Given the description of an element on the screen output the (x, y) to click on. 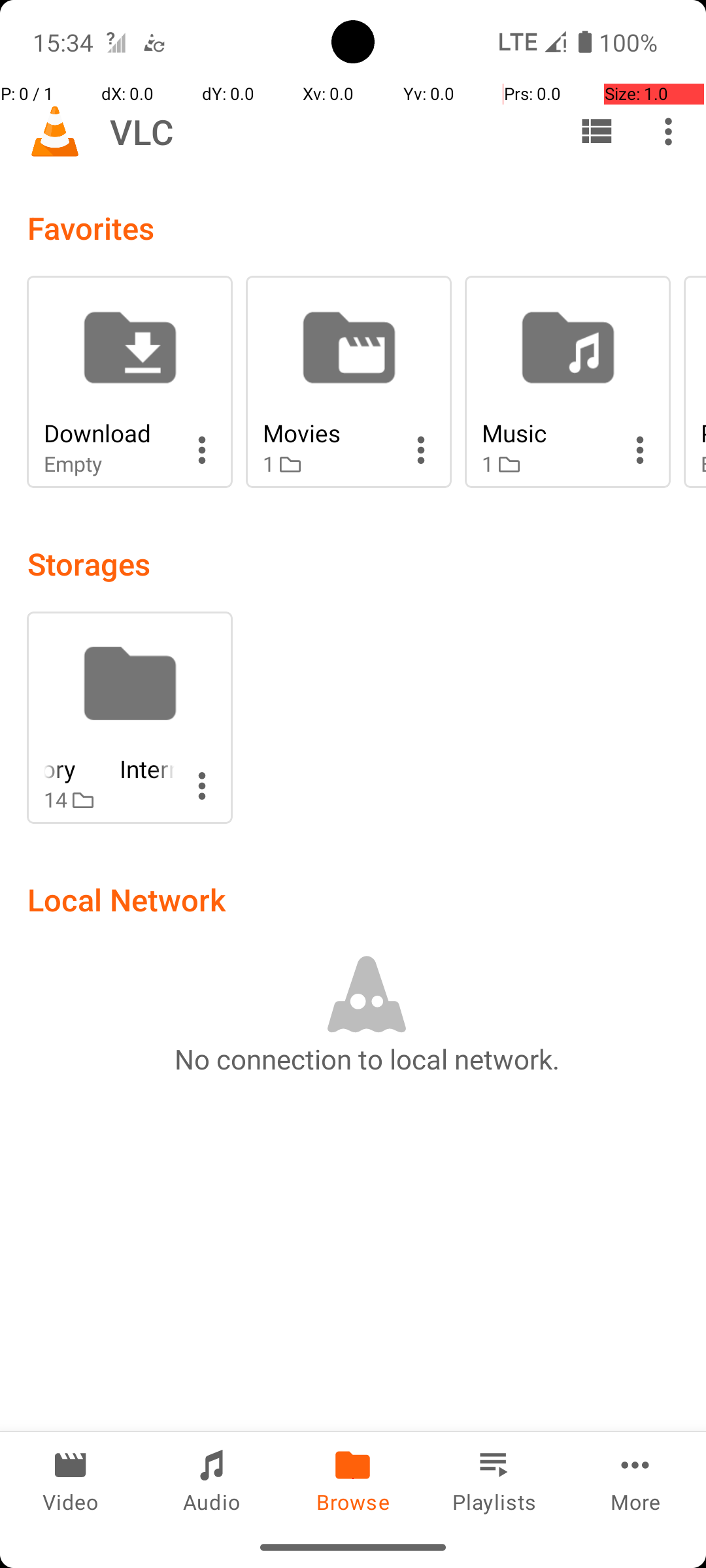
Favorite: Download, Empty Element type: androidx.cardview.widget.CardView (129, 381)
Favorite: Movies, 1 subfolder Element type: androidx.cardview.widget.CardView (348, 381)
Favorite: Music, 1 subfolder Element type: androidx.cardview.widget.CardView (567, 381)
Favorite: Podcasts, Empty Element type: androidx.cardview.widget.CardView (694, 381)
Folder: Internal memory, 14 subfolders Element type: androidx.cardview.widget.CardView (129, 717)
Empty Element type: android.widget.TextView (108, 463)
1 §*§ Element type: android.widget.TextView (327, 463)
14 §*§ Element type: android.widget.TextView (108, 799)
